Given the description of an element on the screen output the (x, y) to click on. 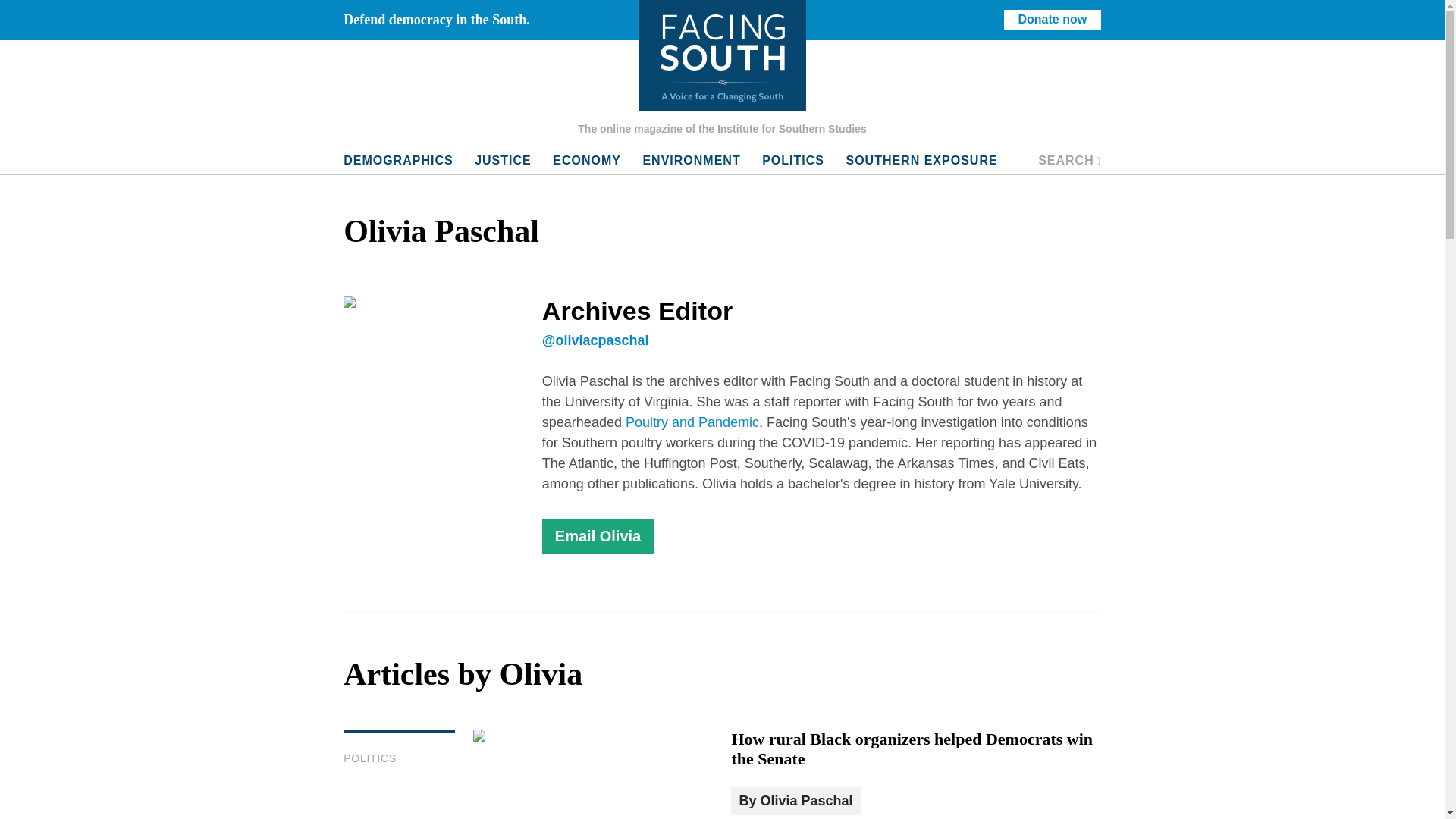
DEMOGRAPHICS (397, 160)
ENVIRONMENT (691, 160)
SOUTHERN EXPOSURE (920, 160)
How rural Black organizers helped Democrats win the Senate (911, 748)
POLITICS (792, 160)
Olivia Paschal (805, 800)
Donate now (1052, 19)
POLITICS (369, 758)
Poultry and Pandemic (692, 421)
